Given the description of an element on the screen output the (x, y) to click on. 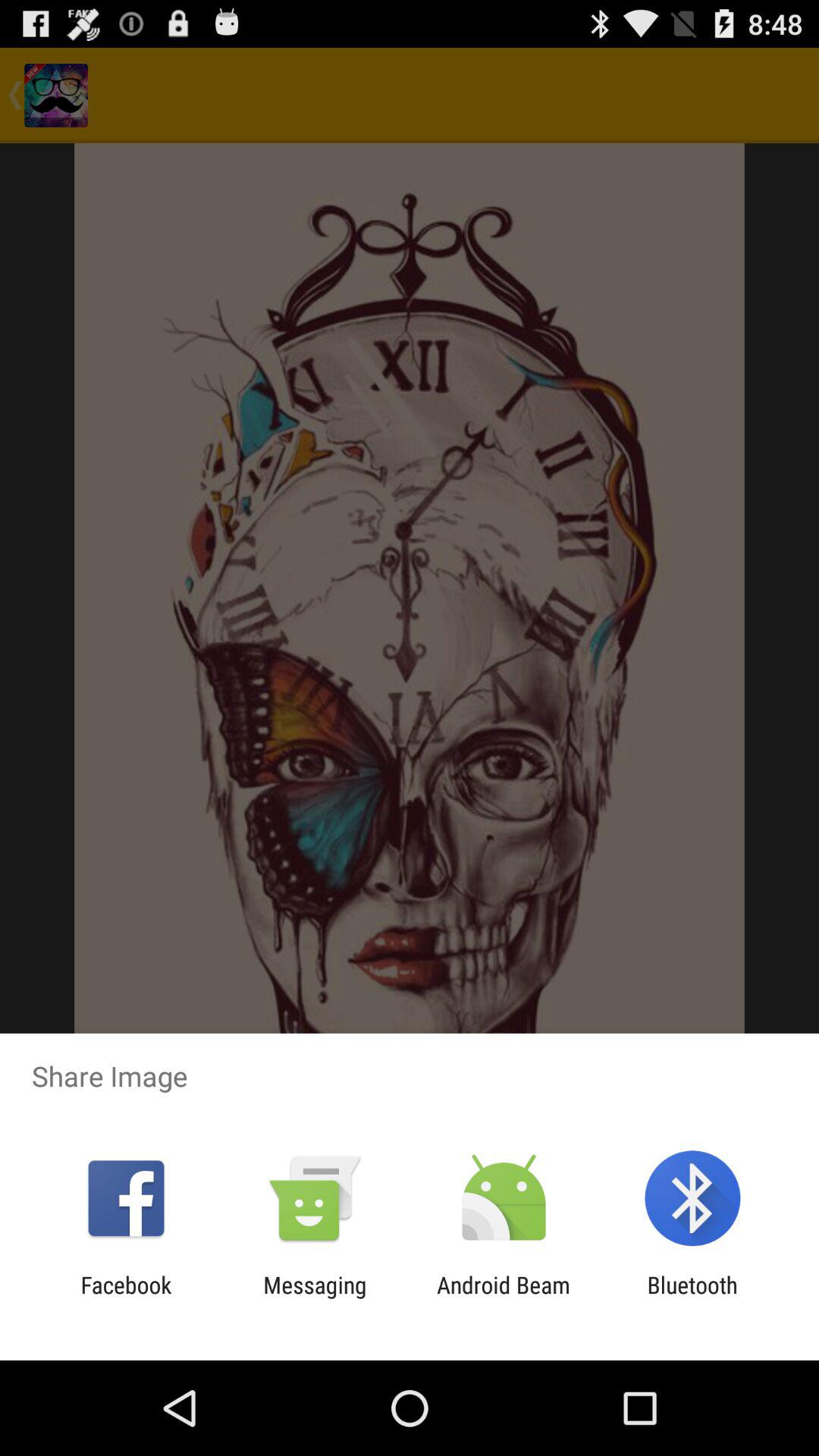
open the app next to the bluetooth app (503, 1298)
